Given the description of an element on the screen output the (x, y) to click on. 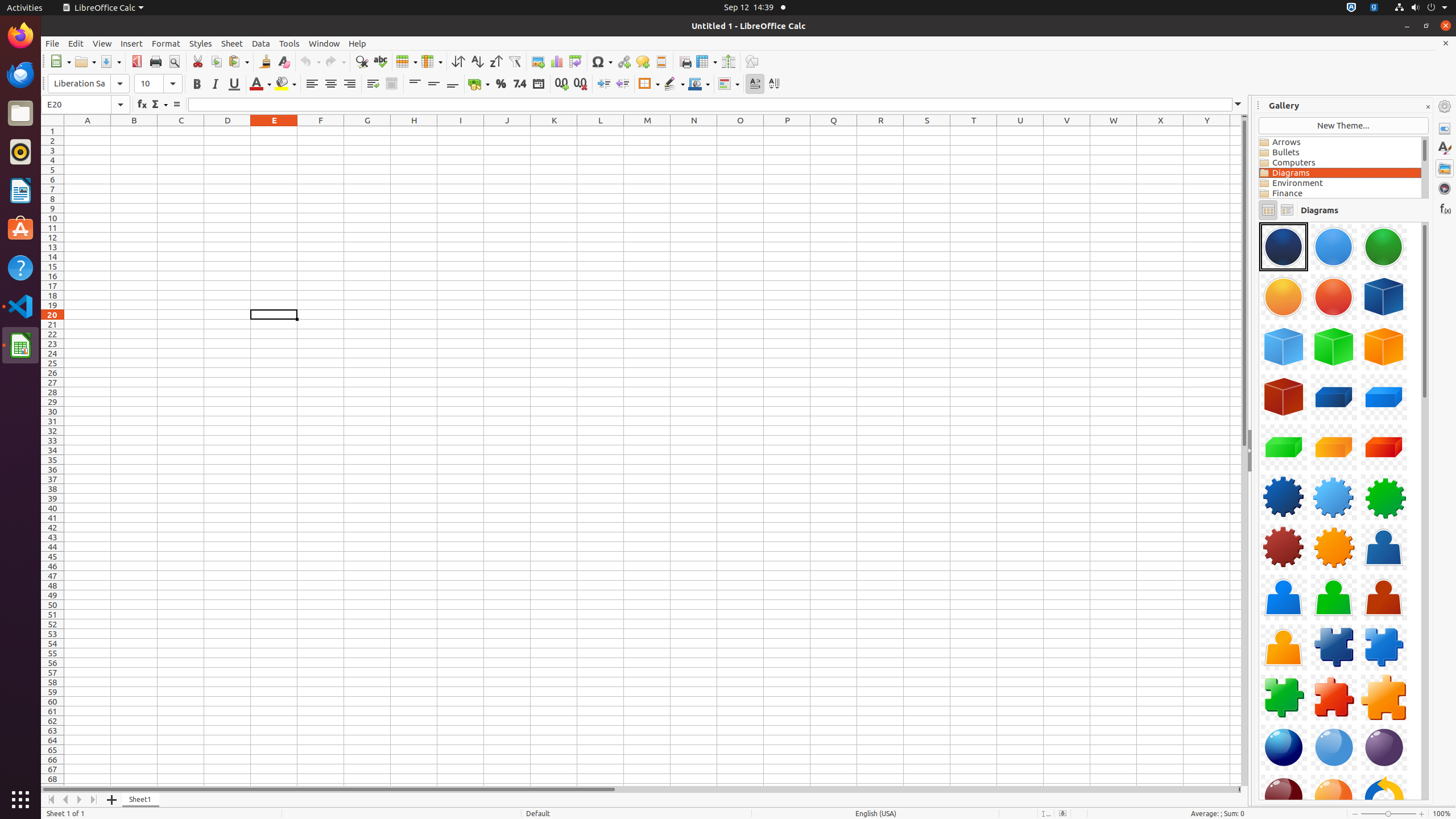
Component-Gear04-DarkRed Element type: list-item (1283, 546)
J1 Element type: table-cell (507, 130)
:1.21/StatusNotifierItem Element type: menu (1373, 7)
Font Name Element type: combo-box (88, 83)
Sheet1 Element type: page-tab (140, 799)
